Given the description of an element on the screen output the (x, y) to click on. 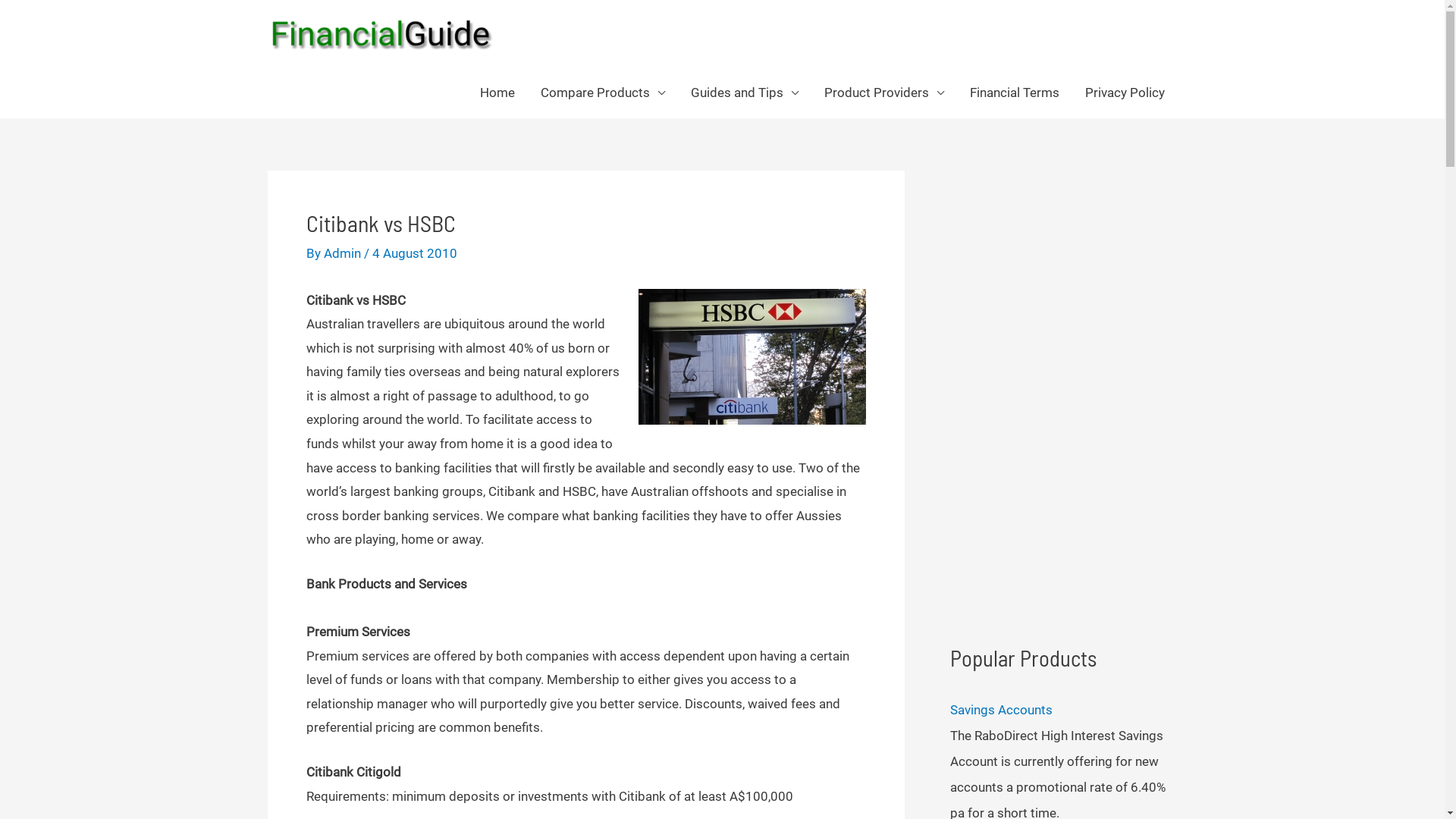
Home Element type: text (497, 92)
Advertisement Element type: hover (1062, 397)
Admin Element type: text (343, 252)
Savings Accounts Element type: text (1000, 709)
Privacy Policy Element type: text (1124, 92)
Product Providers Element type: text (884, 92)
Citibank vs HSBC-300 Element type: hover (752, 356)
Compare Products Element type: text (602, 92)
Guides and Tips Element type: text (744, 92)
Financial Terms Element type: text (1014, 92)
